Given the description of an element on the screen output the (x, y) to click on. 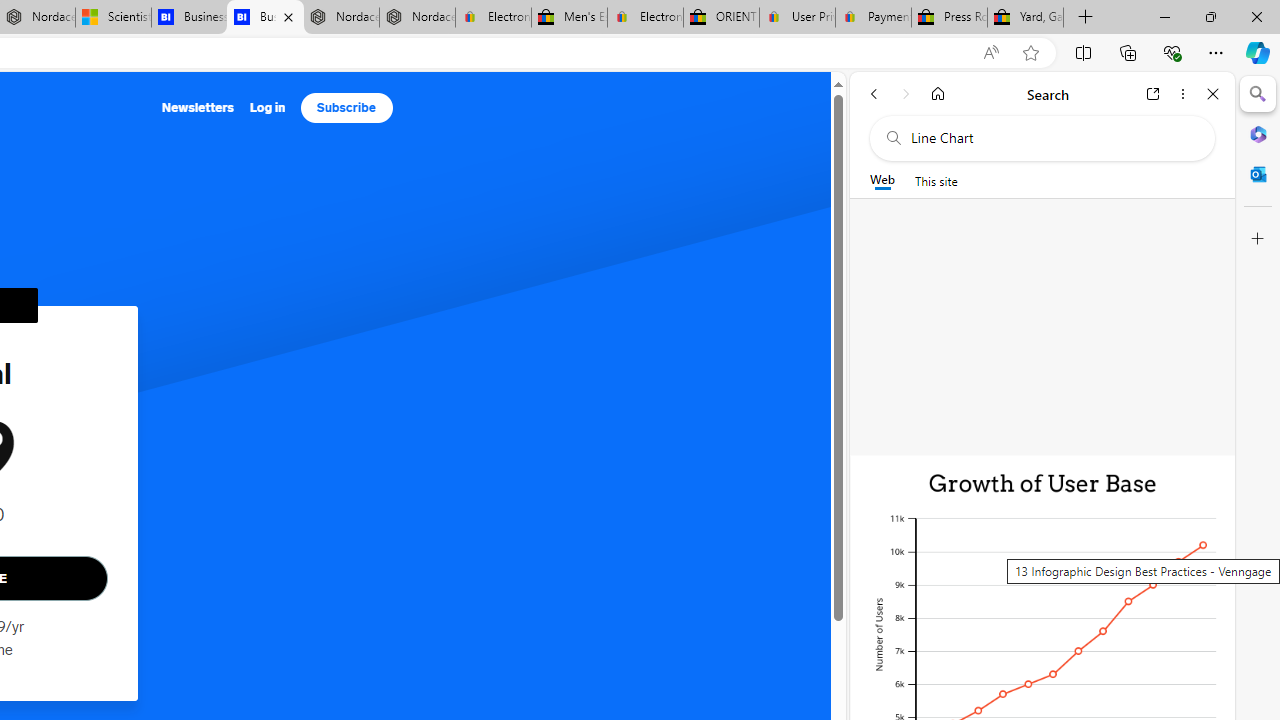
Newsletters (198, 107)
